Given the description of an element on the screen output the (x, y) to click on. 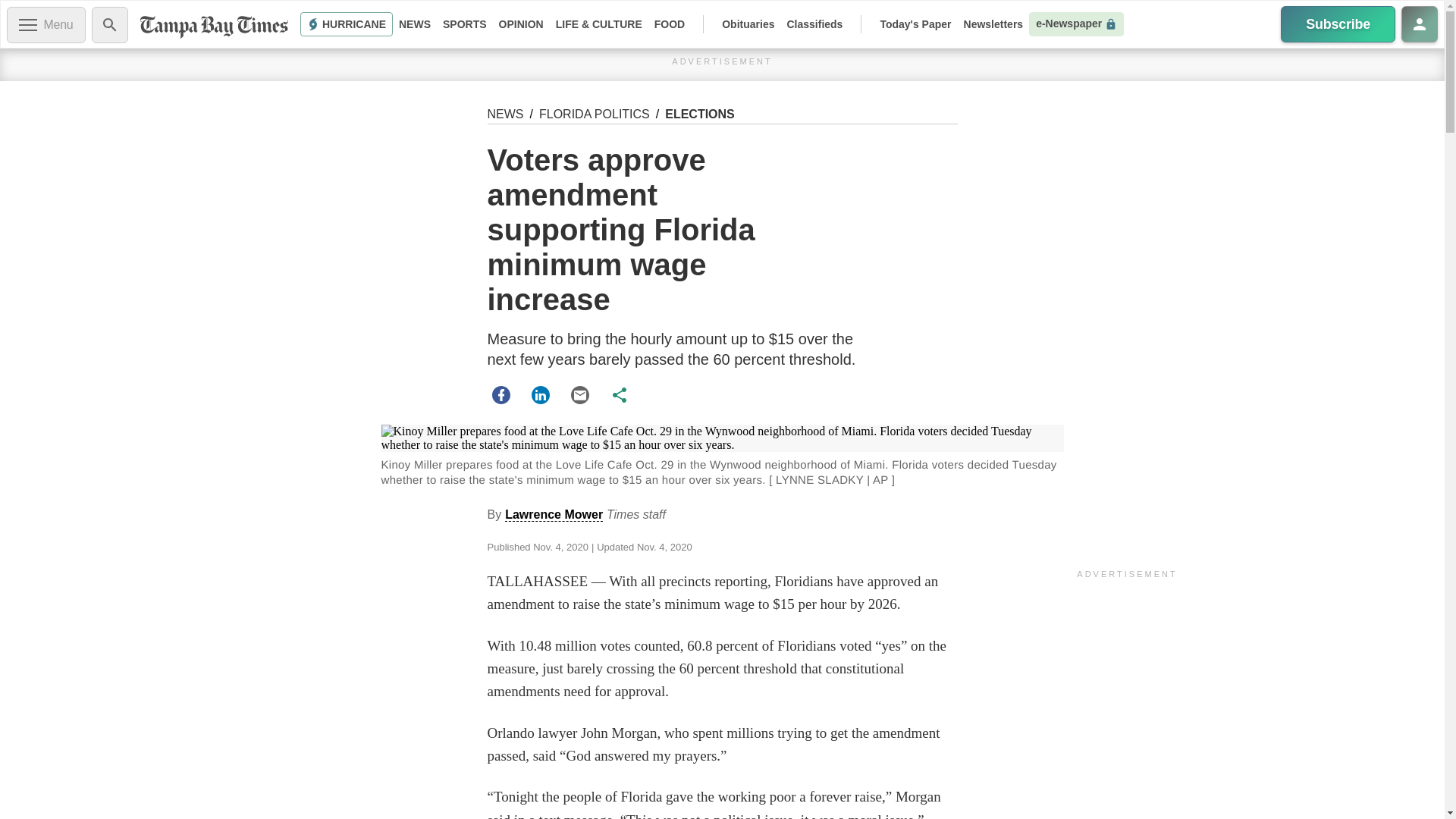
2020-11-04T13:16:10.381Z (665, 546)
2020-11-04T01:33:56.707Z (560, 546)
Menu (46, 24)
